Given the description of an element on the screen output the (x, y) to click on. 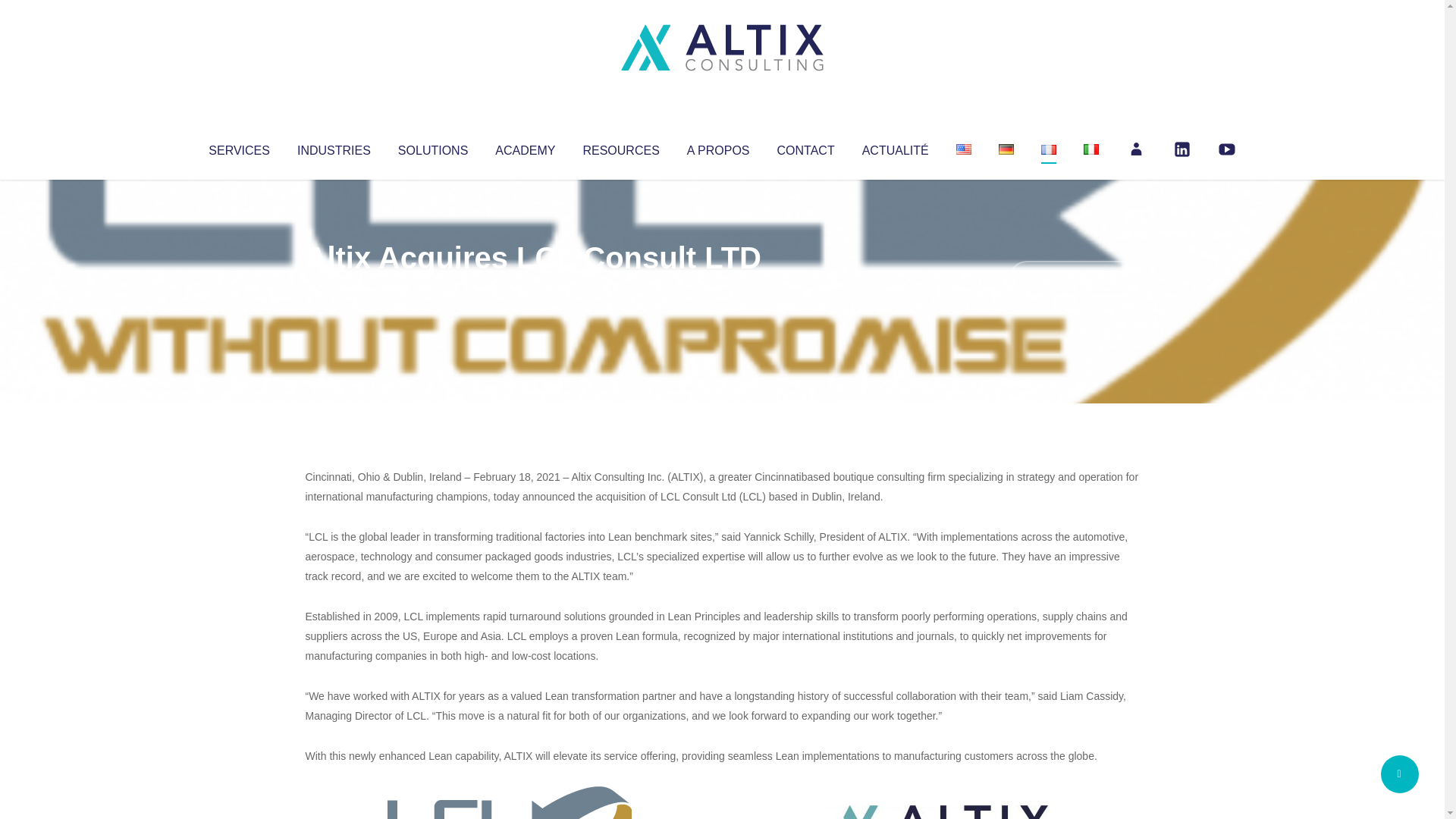
A PROPOS (718, 146)
RESOURCES (620, 146)
INDUSTRIES (334, 146)
No Comments (1073, 278)
Articles par Altix (333, 287)
SOLUTIONS (432, 146)
Uncategorized (530, 287)
Altix (333, 287)
SERVICES (238, 146)
ACADEMY (524, 146)
